Given the description of an element on the screen output the (x, y) to click on. 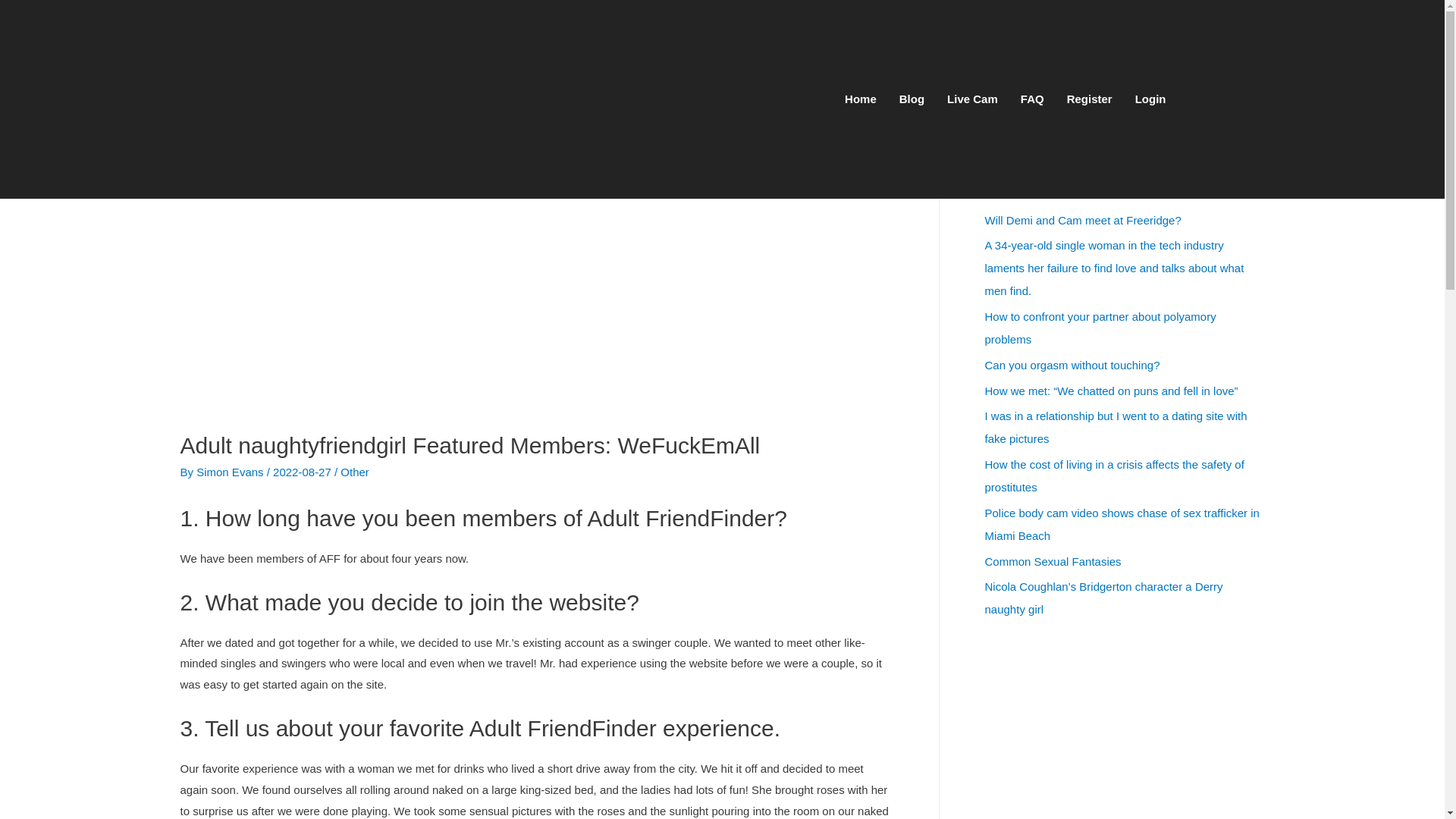
Simon Evans (231, 472)
Login (1150, 99)
Search (1246, 118)
View all posts by Simon Evans (231, 472)
How to confront your partner about polyamory problems (1099, 327)
Blog (912, 99)
Home (860, 99)
Search (1246, 118)
Other (354, 472)
Will Demi and Cam meet at Freeridge? (1082, 219)
Search (1246, 118)
Live Cam (972, 99)
FAQ (1032, 99)
